Given the description of an element on the screen output the (x, y) to click on. 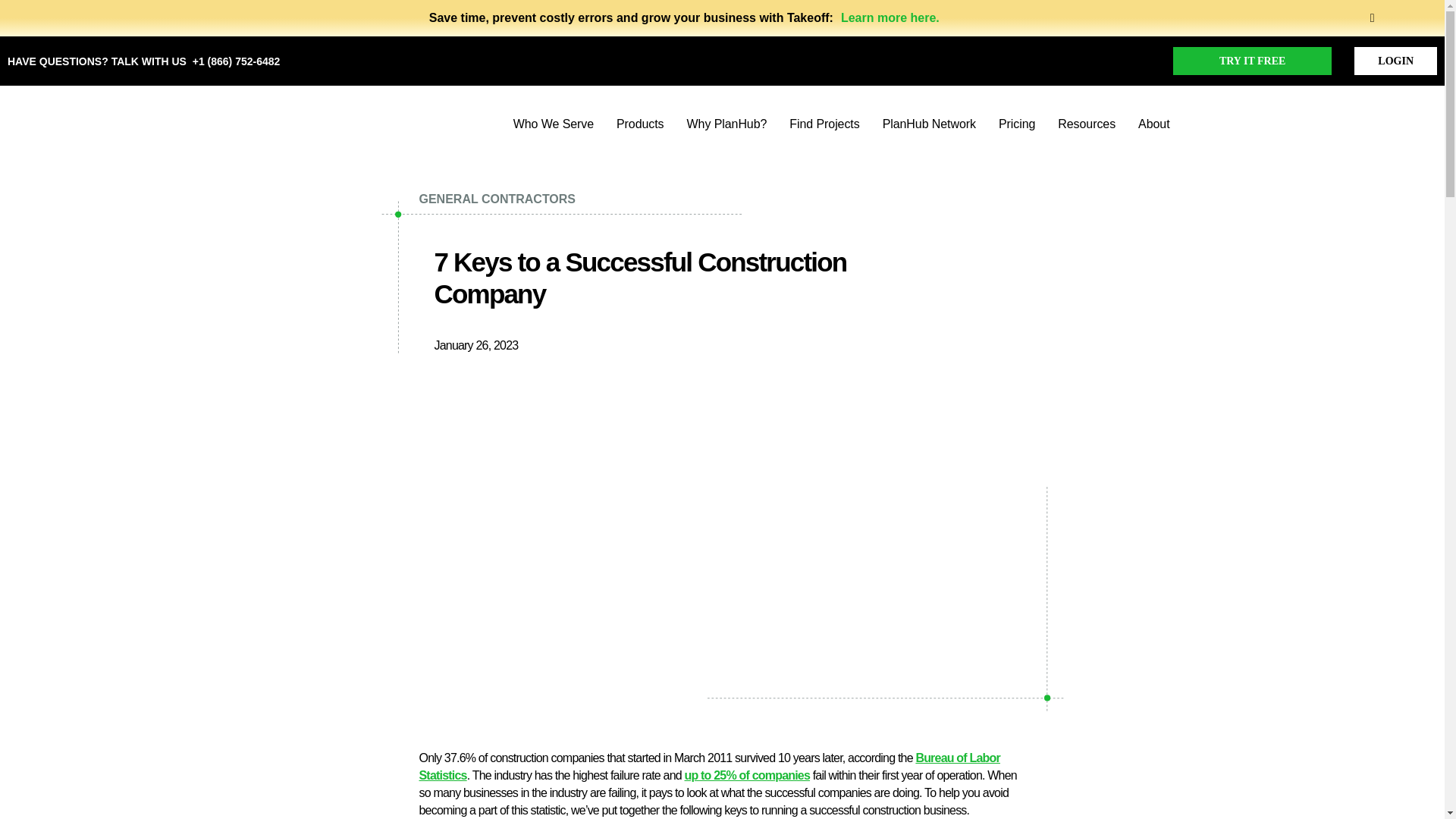
About (1153, 124)
Learn more here. (890, 17)
Pricing (1016, 124)
TRY IT FREE (1252, 60)
Who We Serve (553, 124)
LOGIN (1395, 60)
Resources (1086, 124)
Find Projects (824, 124)
PlanHub Network (928, 124)
Products (639, 124)
